Given the description of an element on the screen output the (x, y) to click on. 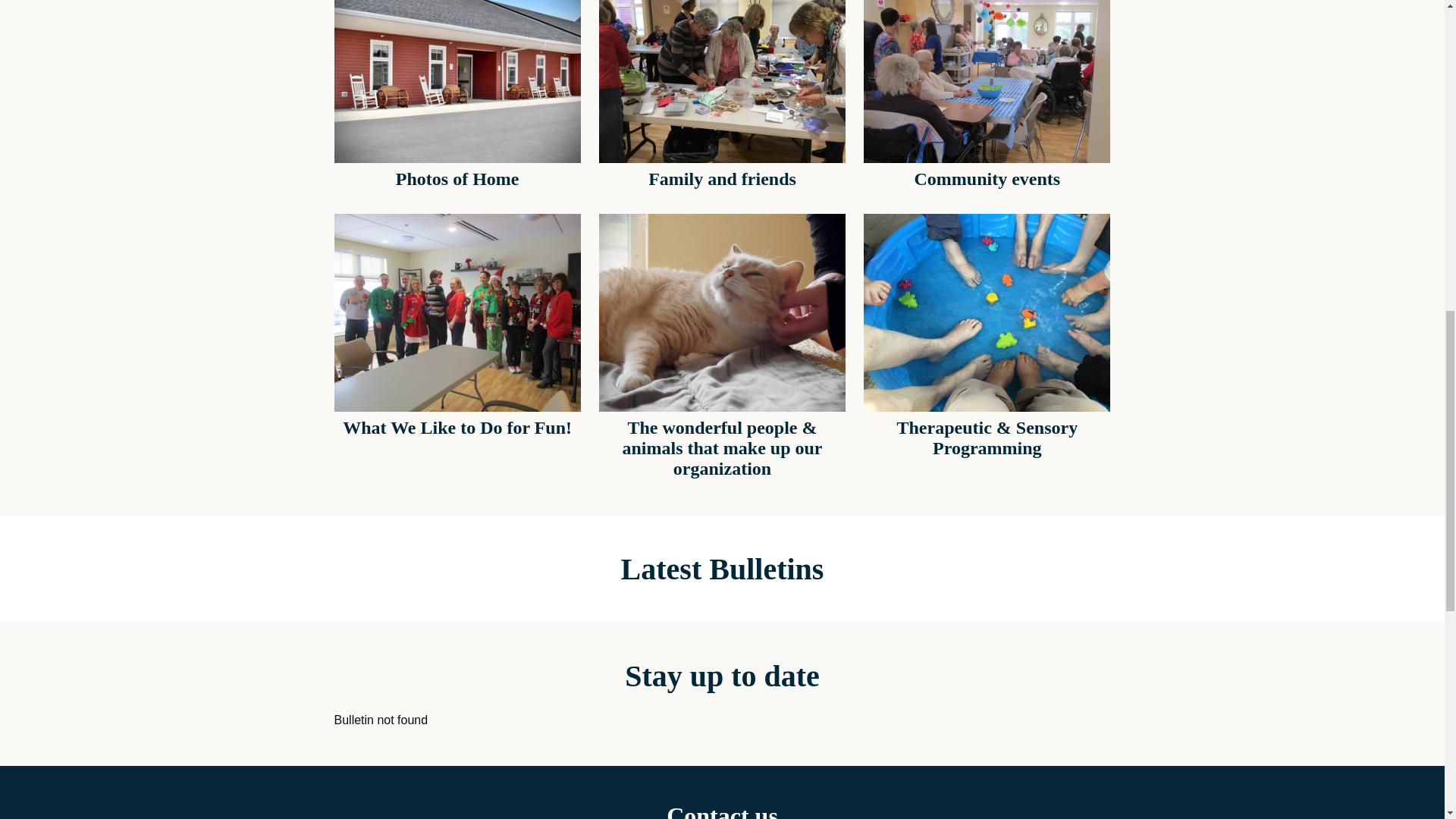
Our Staff Variety Show!.jpg (456, 312)
Outdoors at Mill Cove Nursing Home.jpg (456, 81)
Volunteers at Mill Cove Nursing Home.jpg (721, 81)
Pool Day!.jpg (986, 312)
